Given the description of an element on the screen output the (x, y) to click on. 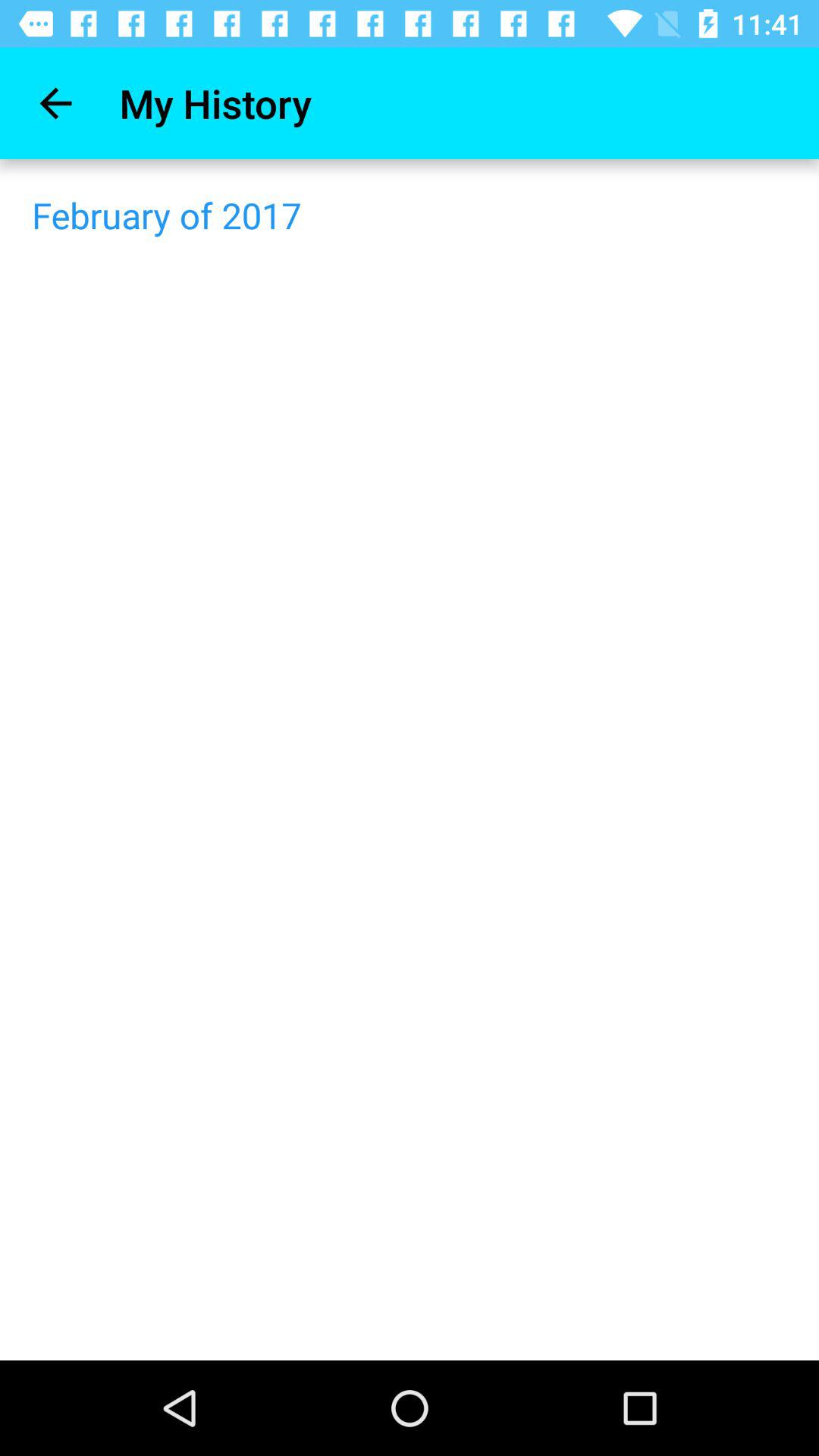
turn off the icon above february of 2017 icon (55, 103)
